Given the description of an element on the screen output the (x, y) to click on. 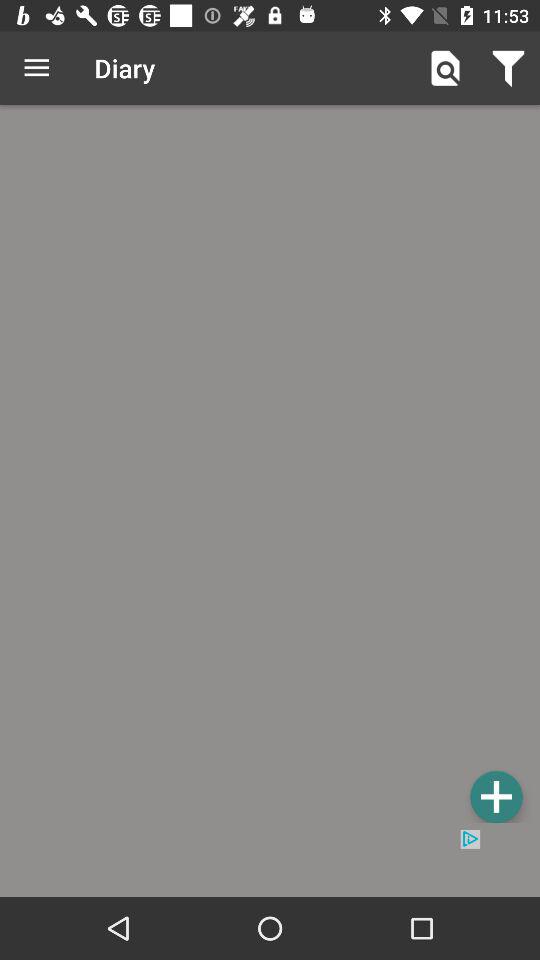
add entry (269, 467)
